Given the description of an element on the screen output the (x, y) to click on. 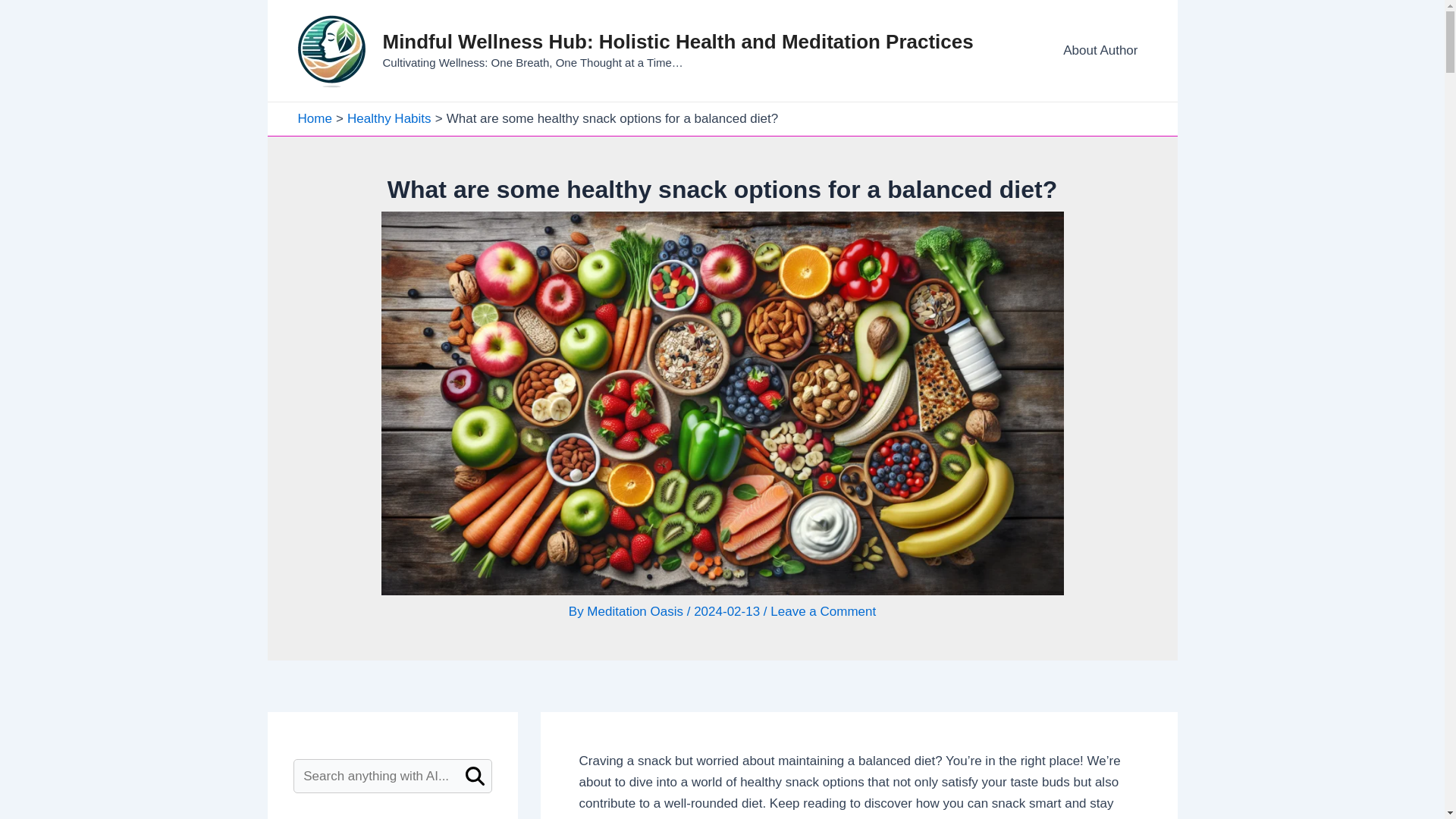
Home (314, 118)
About Author (1099, 50)
Healthy Habits (388, 118)
Leave a Comment (823, 611)
Meditation Oasis (635, 611)
View all posts by Meditation Oasis (635, 611)
